Given the description of an element on the screen output the (x, y) to click on. 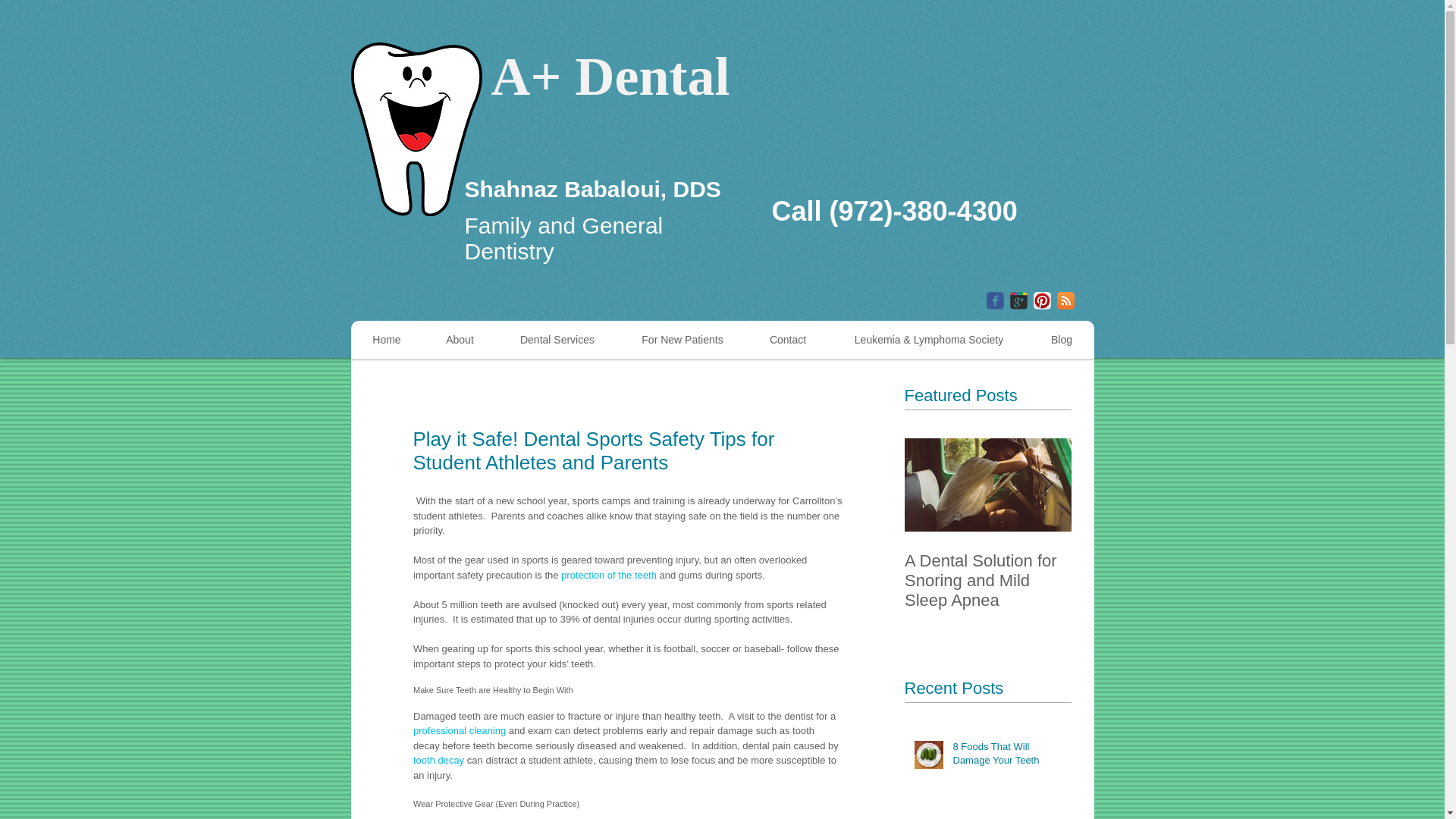
Spring Sports- First Aid for Dental Emergencies (1153, 580)
 professional cleaning  (625, 723)
About (459, 339)
Home (386, 339)
Blog (1060, 339)
8 Foods That Will Damage Your Teeth (1006, 756)
A Dental Solution for Snoring and Mild Sleep Apnea (987, 580)
For New Patients (681, 339)
tooth decay (437, 759)
Contact (786, 339)
Dental Services (556, 339)
 protection of the teeth  (608, 573)
